Given the description of an element on the screen output the (x, y) to click on. 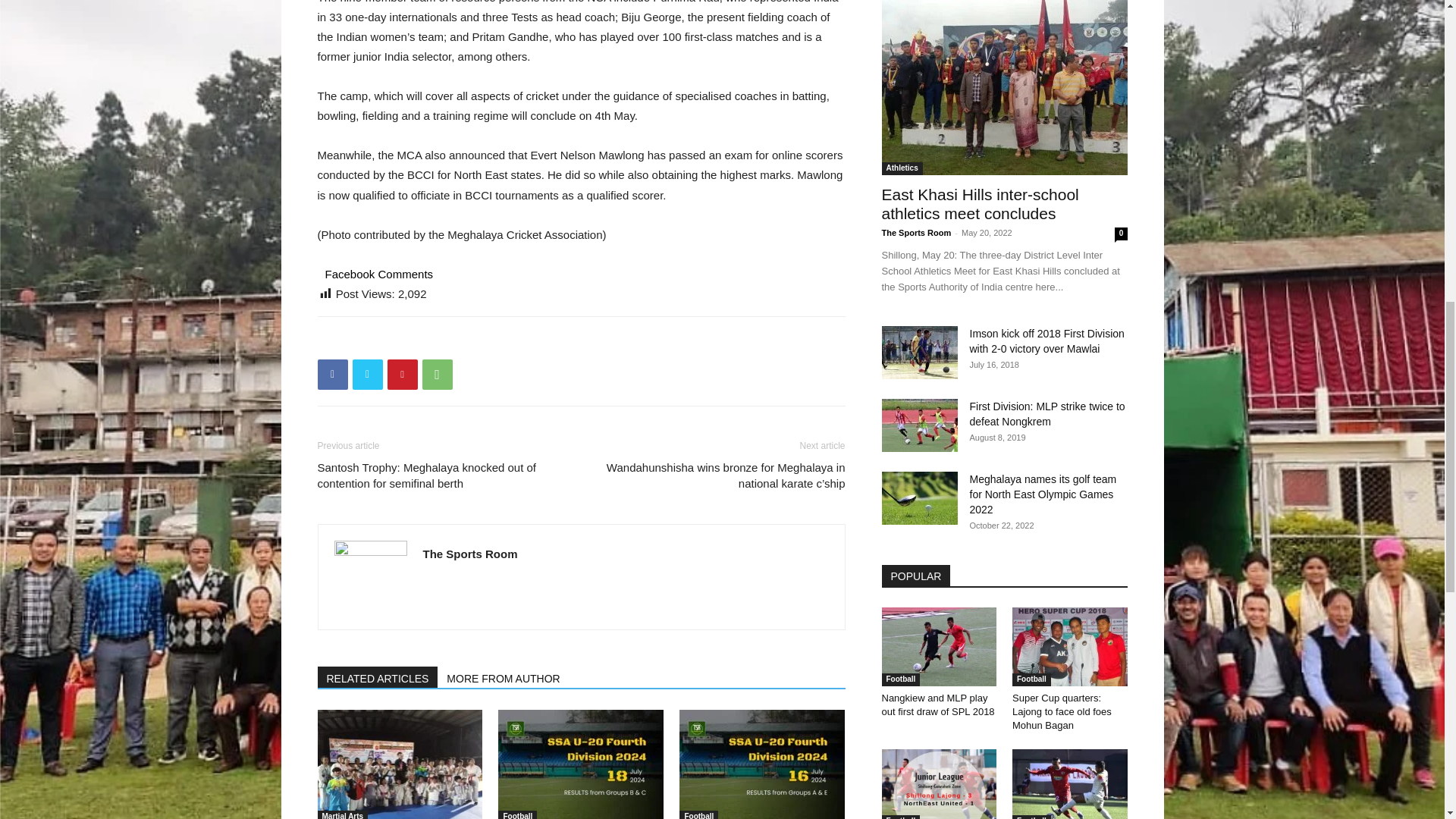
Facebook (332, 374)
Pinterest (401, 374)
bottomFacebookLike (430, 340)
Twitter (366, 374)
